Given the description of an element on the screen output the (x, y) to click on. 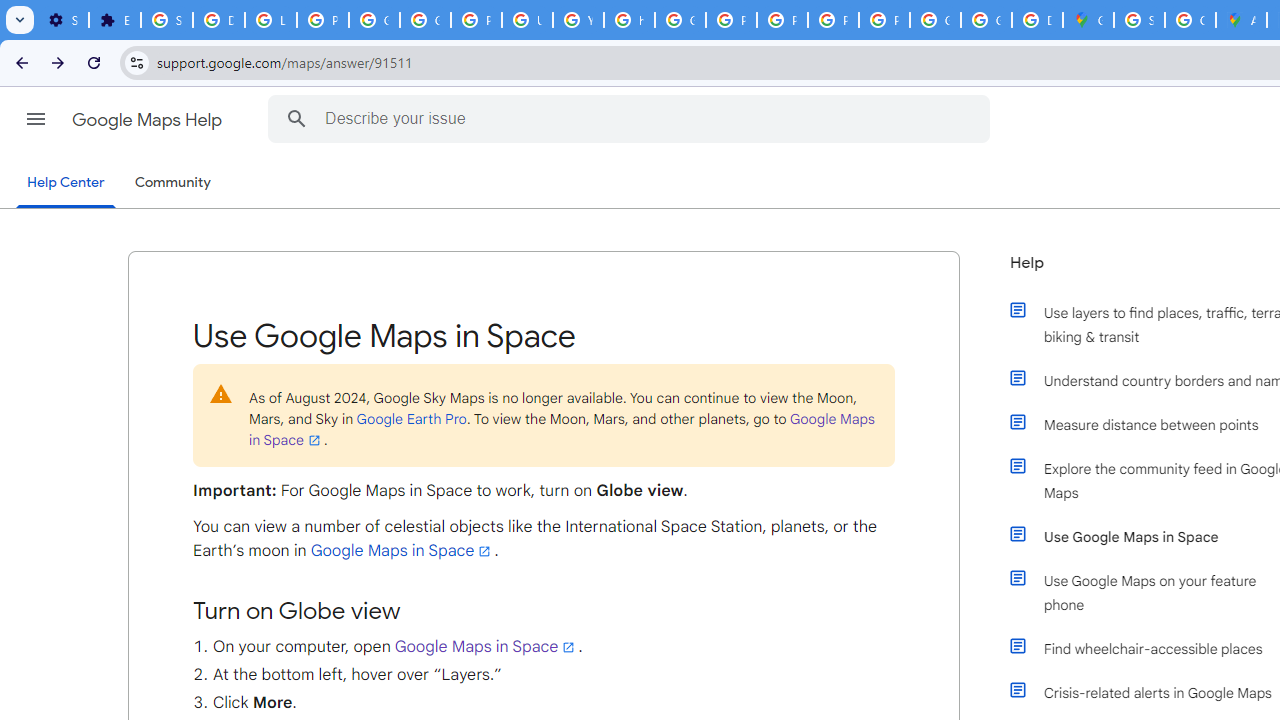
Delete photos & videos - Computer - Google Photos Help (218, 20)
Google Earth Pro (411, 418)
Google Maps (1087, 20)
Describe your issue (632, 118)
Privacy Help Center - Policies Help (731, 20)
